Given the description of an element on the screen output the (x, y) to click on. 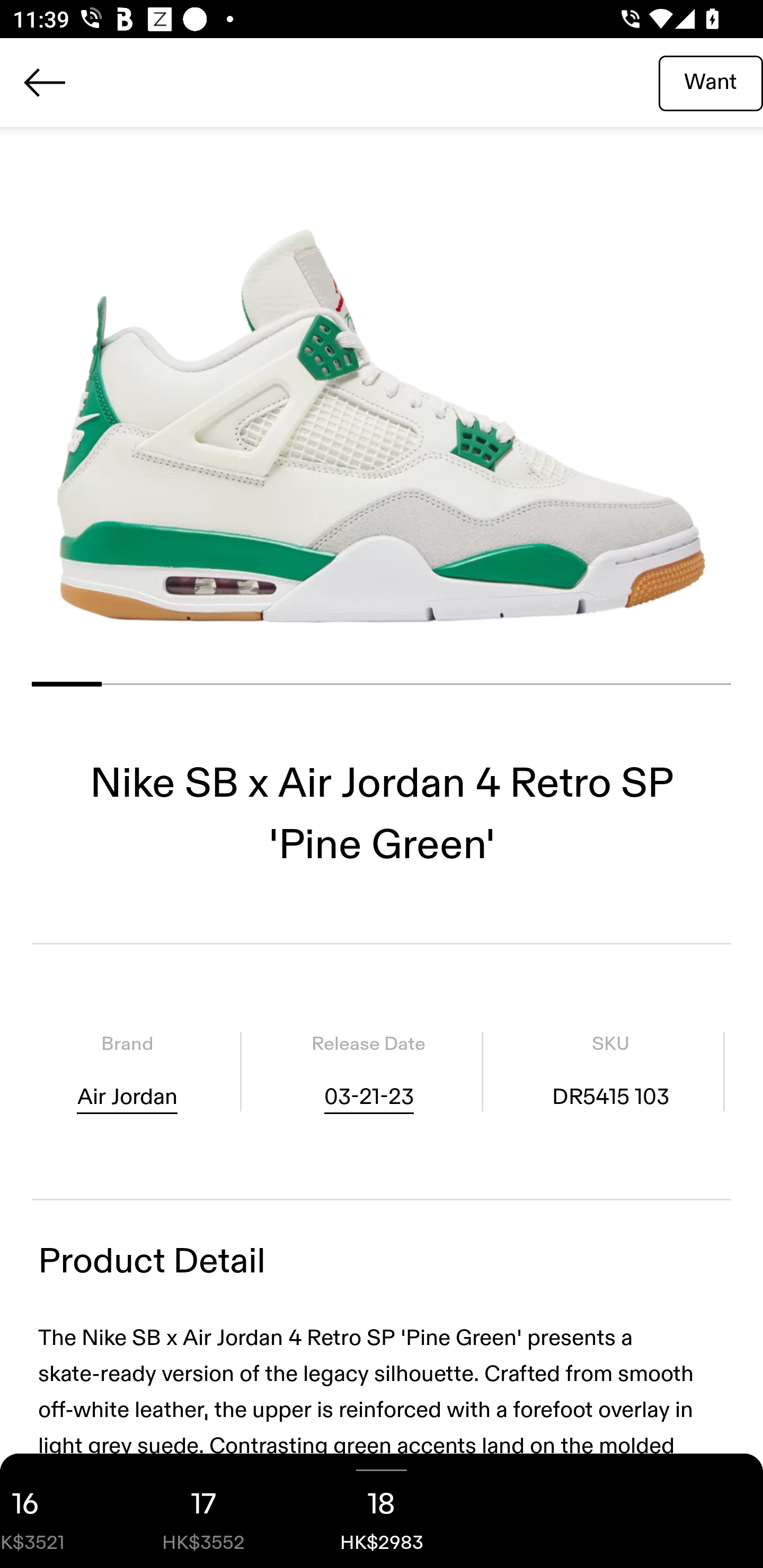
Want (710, 82)
Brand Air Jordan (126, 1070)
Release Date 03-21-23 (368, 1070)
SKU DR5415 103 (609, 1070)
16 HK$3521 (57, 1510)
17 HK$3552 (203, 1510)
18 HK$2983 (381, 1510)
